Given the description of an element on the screen output the (x, y) to click on. 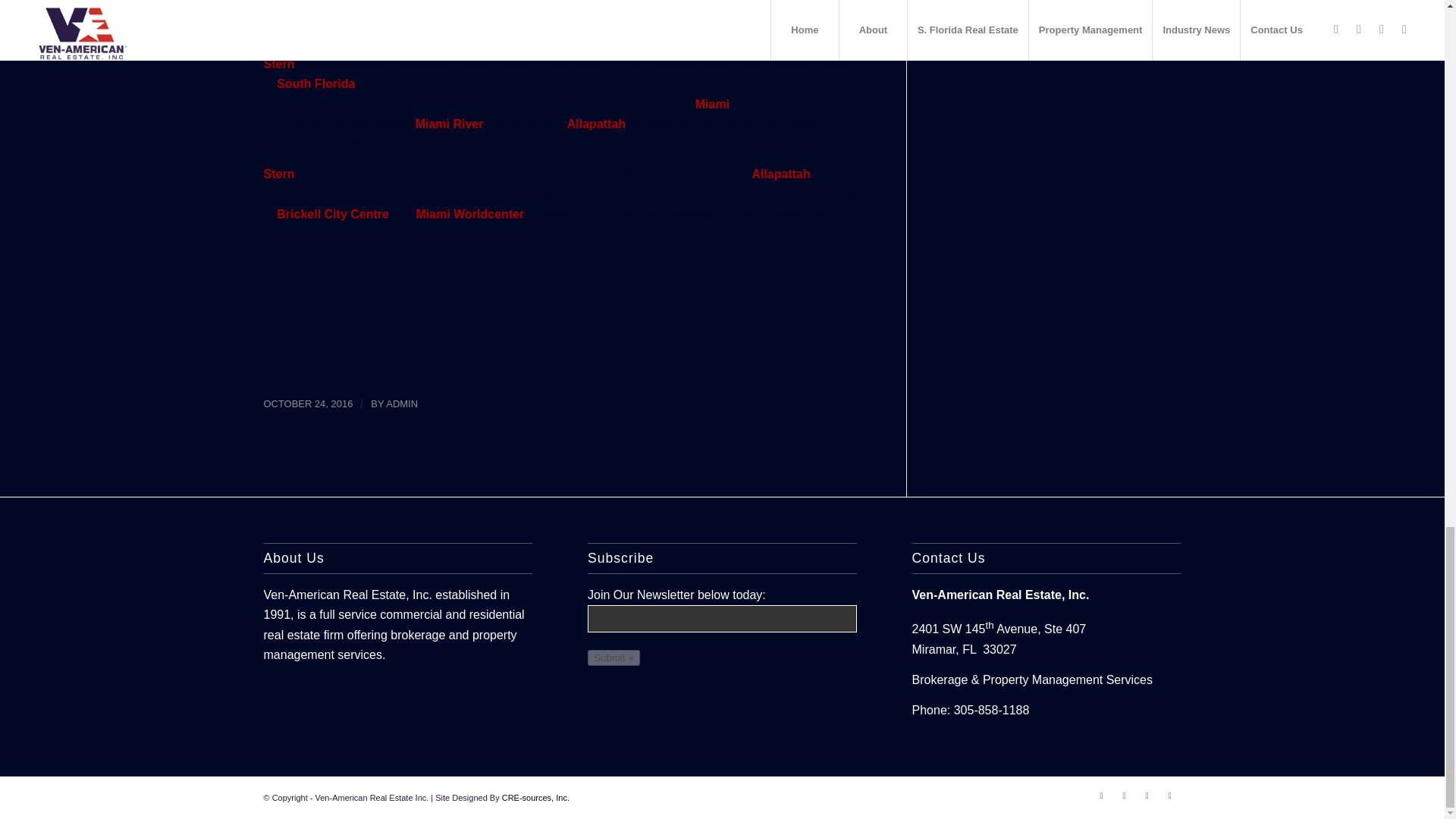
The Real Deal (346, 359)
Facebook (1101, 794)
LinkedIn (1146, 794)
CRE-sources, Inc. (535, 797)
Rss (1169, 794)
Posts by ADMIN (401, 403)
Twitter (1124, 794)
ADMIN (401, 403)
